Given the description of an element on the screen output the (x, y) to click on. 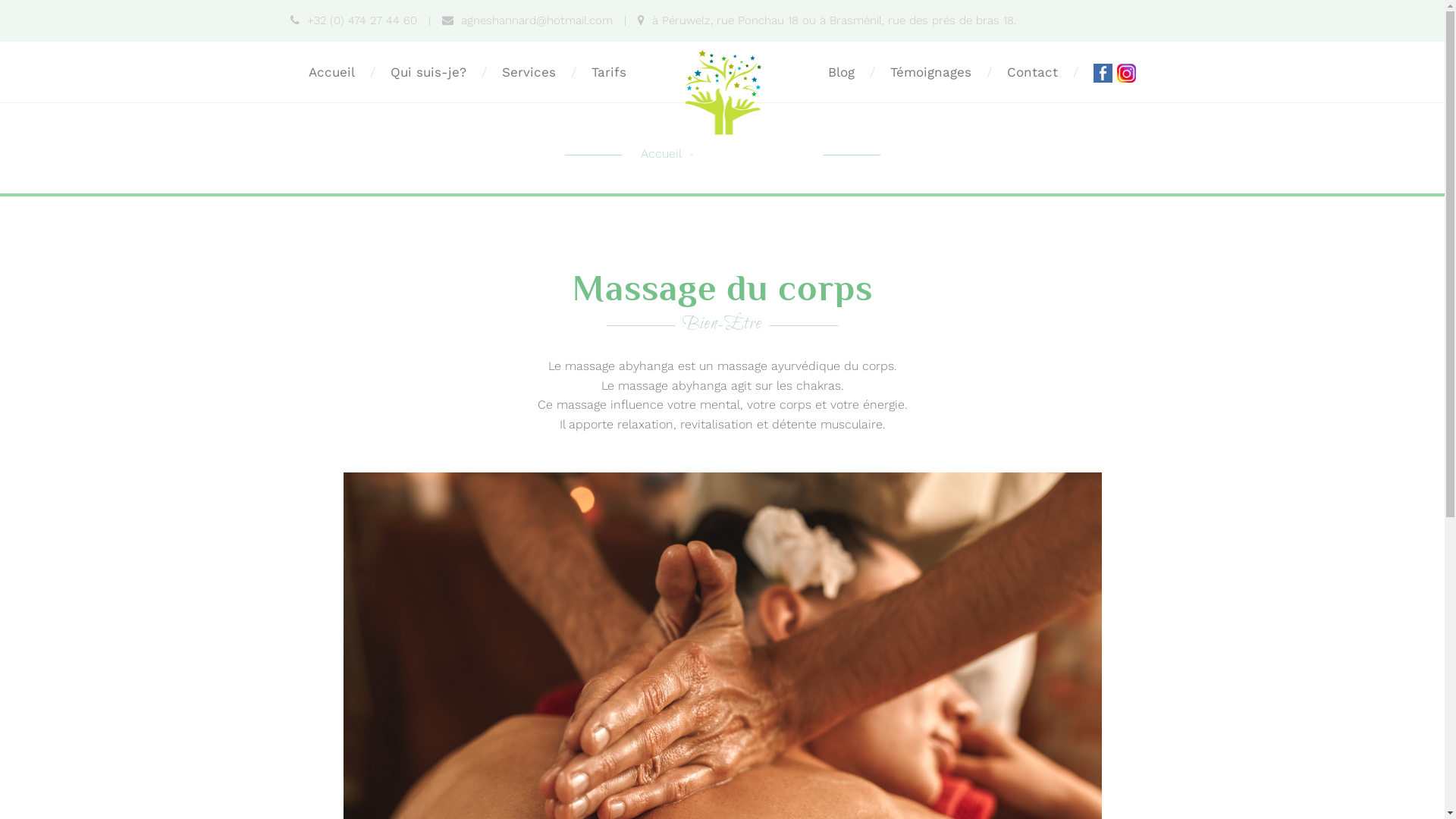
Tarifs Element type: text (608, 71)
/ Element type: text (483, 71)
/ Element type: text (988, 71)
agneshannard@hotmail.com Element type: text (526, 20)
Accueil Element type: text (668, 153)
Blog Element type: text (841, 71)
Contact Element type: text (1032, 71)
Services Element type: text (528, 71)
/ Element type: text (1075, 71)
/ Element type: text (573, 71)
Accueil Element type: text (331, 71)
/ Element type: text (872, 71)
+32 (0) 474 27 44 60 Element type: text (352, 20)
/ Element type: text (372, 71)
Massage du corps Element type: text (753, 153)
Qui suis-je? Element type: text (428, 71)
